Given the description of an element on the screen output the (x, y) to click on. 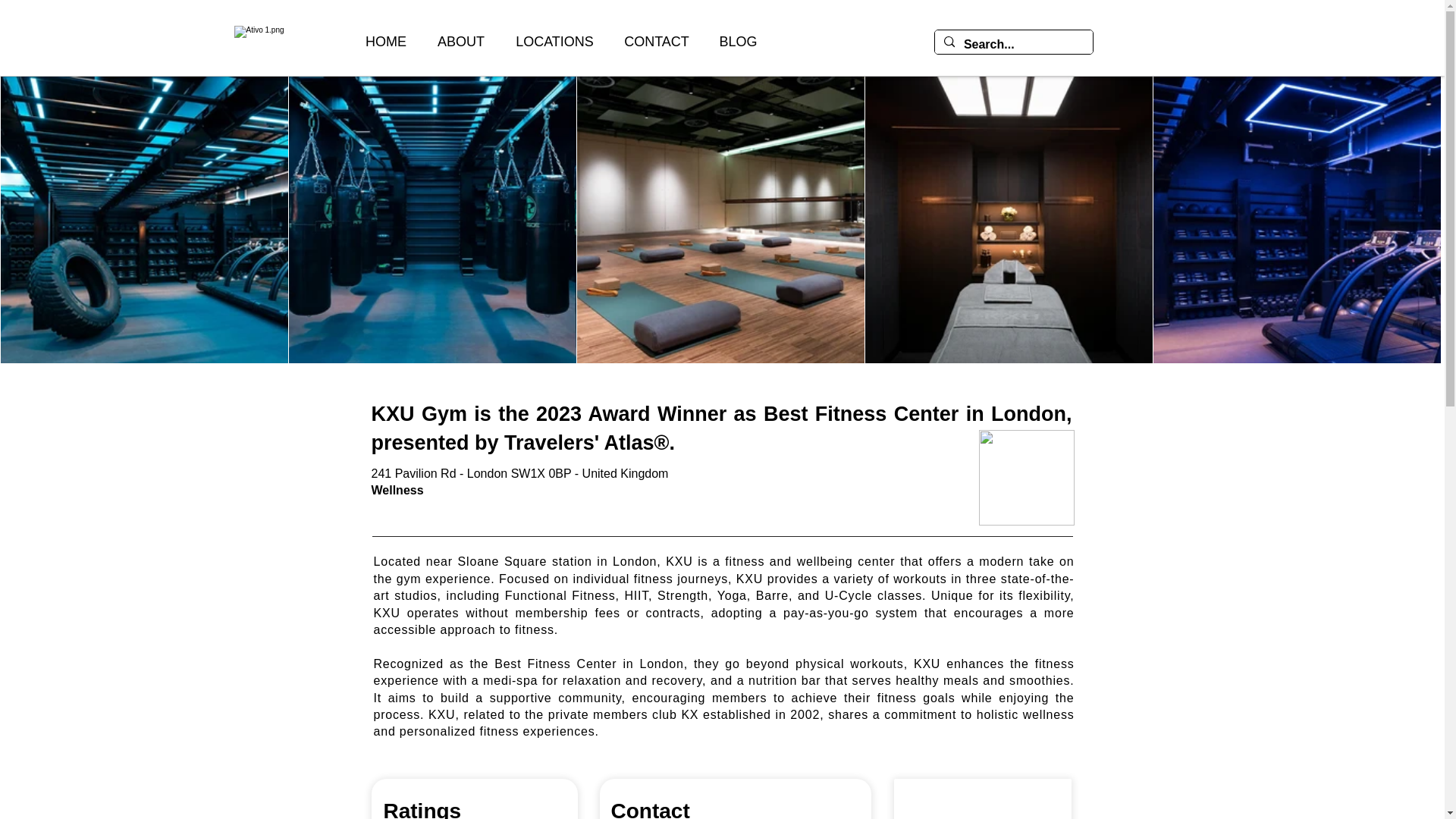
ABOUT (461, 41)
BLOG (737, 41)
CONTACT (655, 41)
HOME (385, 41)
10.png (1026, 477)
